Given the description of an element on the screen output the (x, y) to click on. 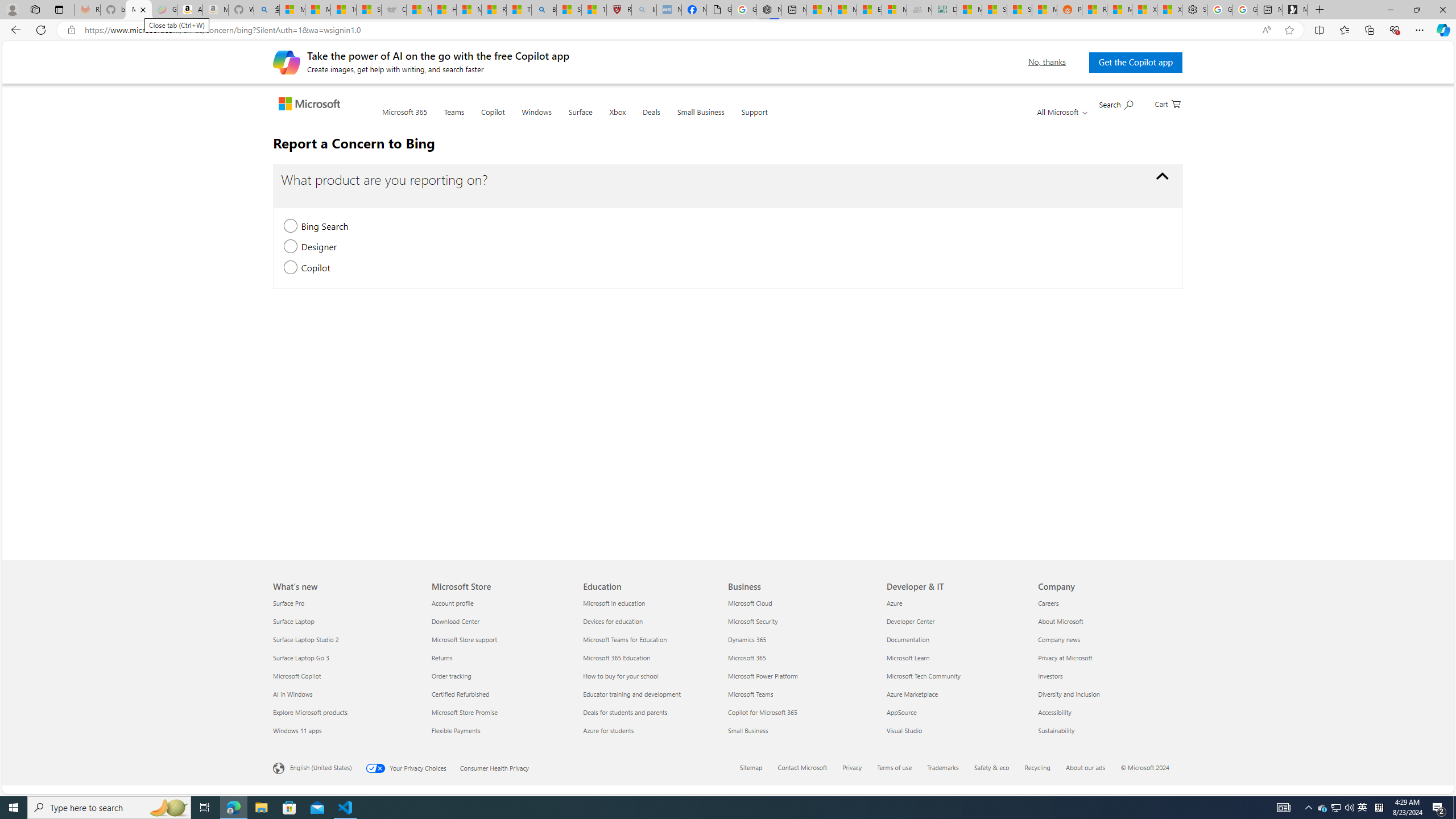
Visual Studio Developer & IT (904, 729)
Microsoft Security Business (752, 620)
Developer Center Developer & IT (910, 620)
Teams (453, 118)
Designer, new section will be expanded (290, 246)
Windows (536, 118)
Careers Company (1048, 602)
Microsoft 365 Business (746, 656)
Returns Microsoft Store (441, 656)
Sustainability (1107, 730)
Windows 11 apps What's new (297, 729)
